Given the description of an element on the screen output the (x, y) to click on. 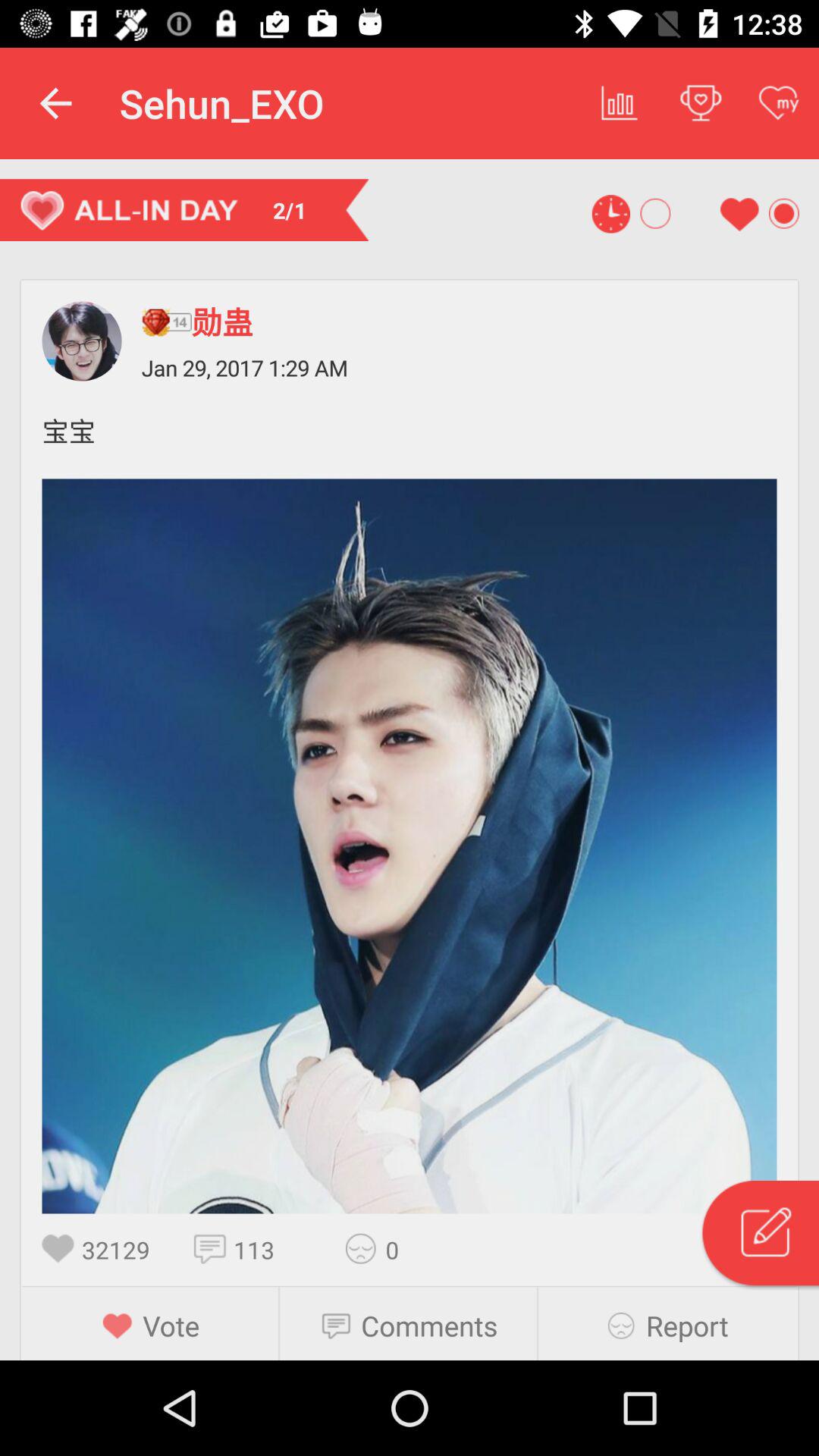
launch item above comments item (365, 1248)
